Given the description of an element on the screen output the (x, y) to click on. 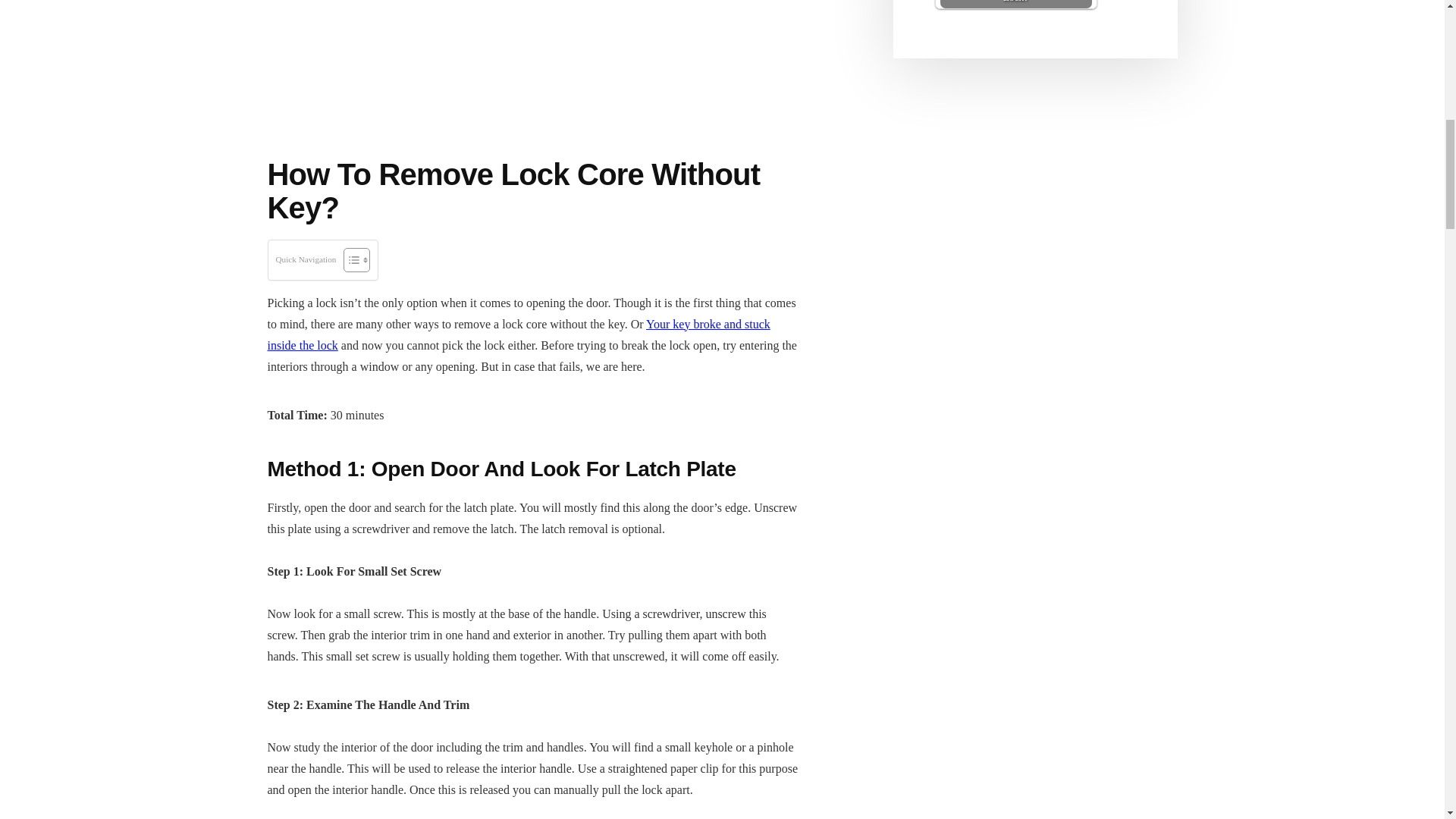
Your key broke and stuck inside the lock (518, 333)
Advertisement (531, 63)
